Given the description of an element on the screen output the (x, y) to click on. 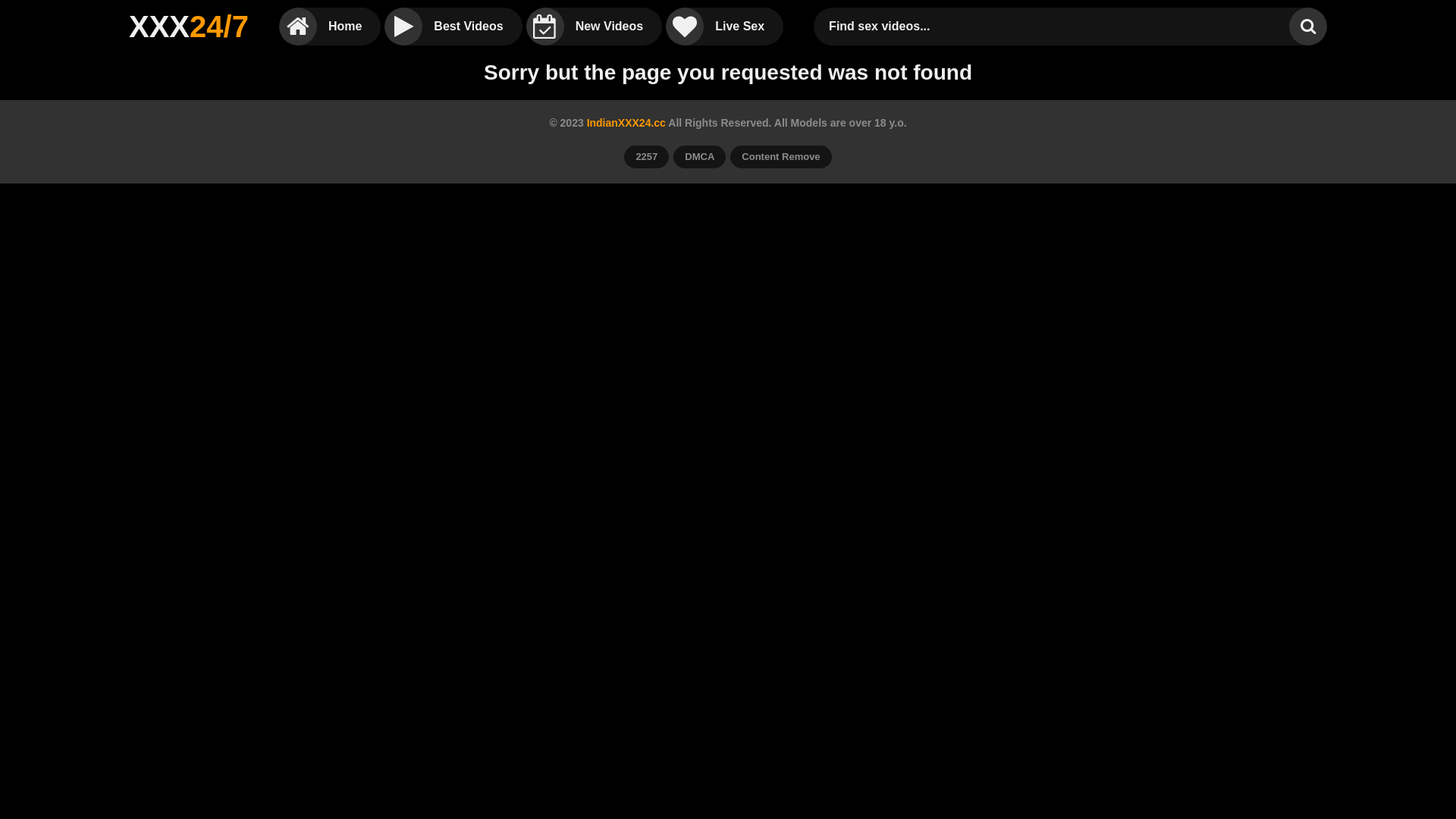
Use Latin letters, digits, space, - Element type: hover (1054, 26)
2257 Element type: text (646, 156)
DMCA Element type: text (699, 156)
Best Videos Element type: text (452, 26)
New Videos Element type: text (594, 26)
Search Element type: hover (1308, 26)
Live Sex Element type: text (724, 26)
Content Remove Element type: text (780, 156)
Home Element type: text (329, 26)
XXX24/7 Element type: text (188, 26)
